Given the description of an element on the screen output the (x, y) to click on. 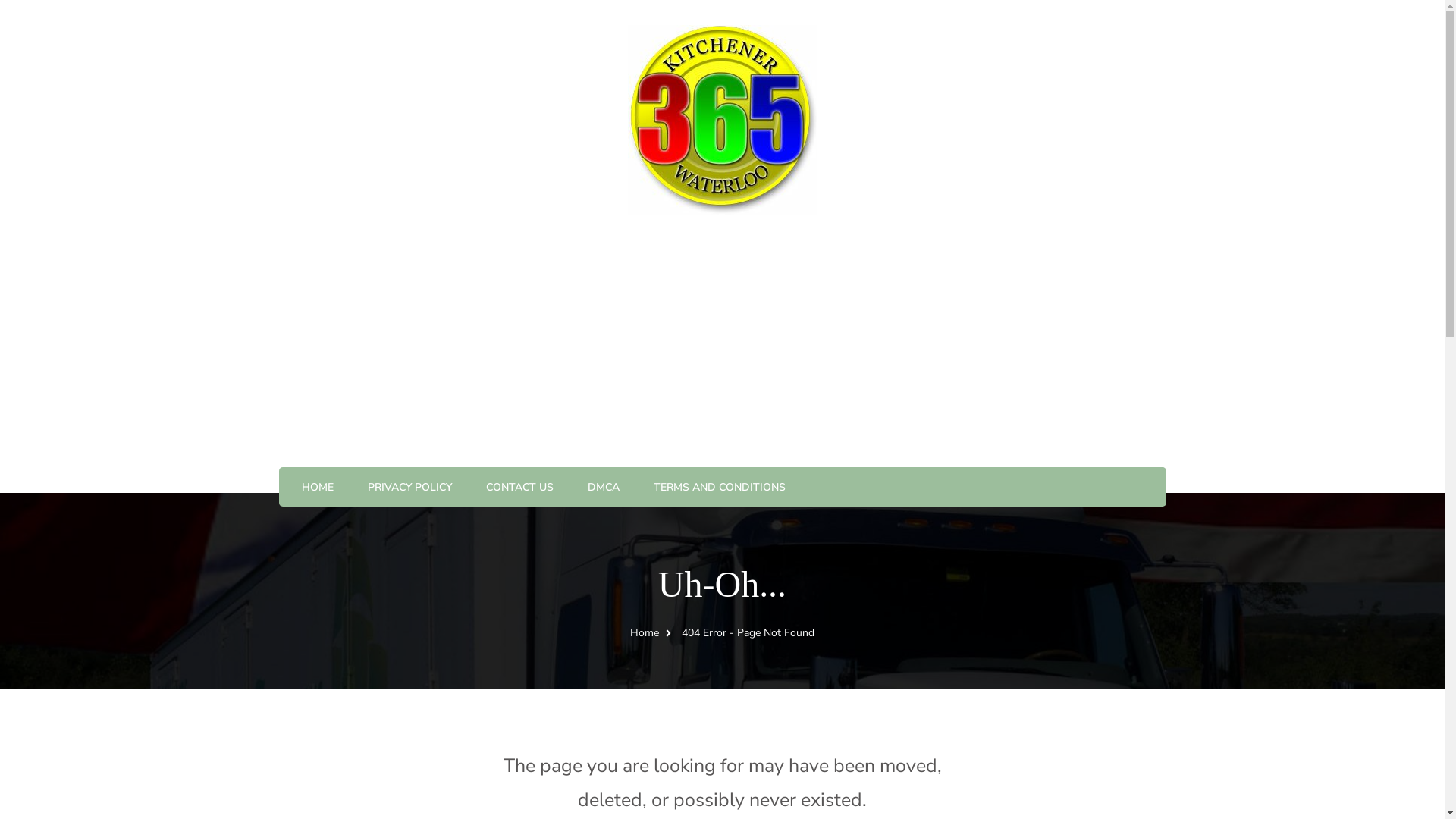
365-kw.com Element type: text (335, 44)
Home Element type: text (644, 632)
PRIVACY POLICY Element type: text (409, 487)
HOME Element type: text (317, 487)
CONTACT US Element type: text (518, 487)
TERMS AND CONDITIONS Element type: text (719, 487)
DMCA Element type: text (602, 487)
